Given the description of an element on the screen output the (x, y) to click on. 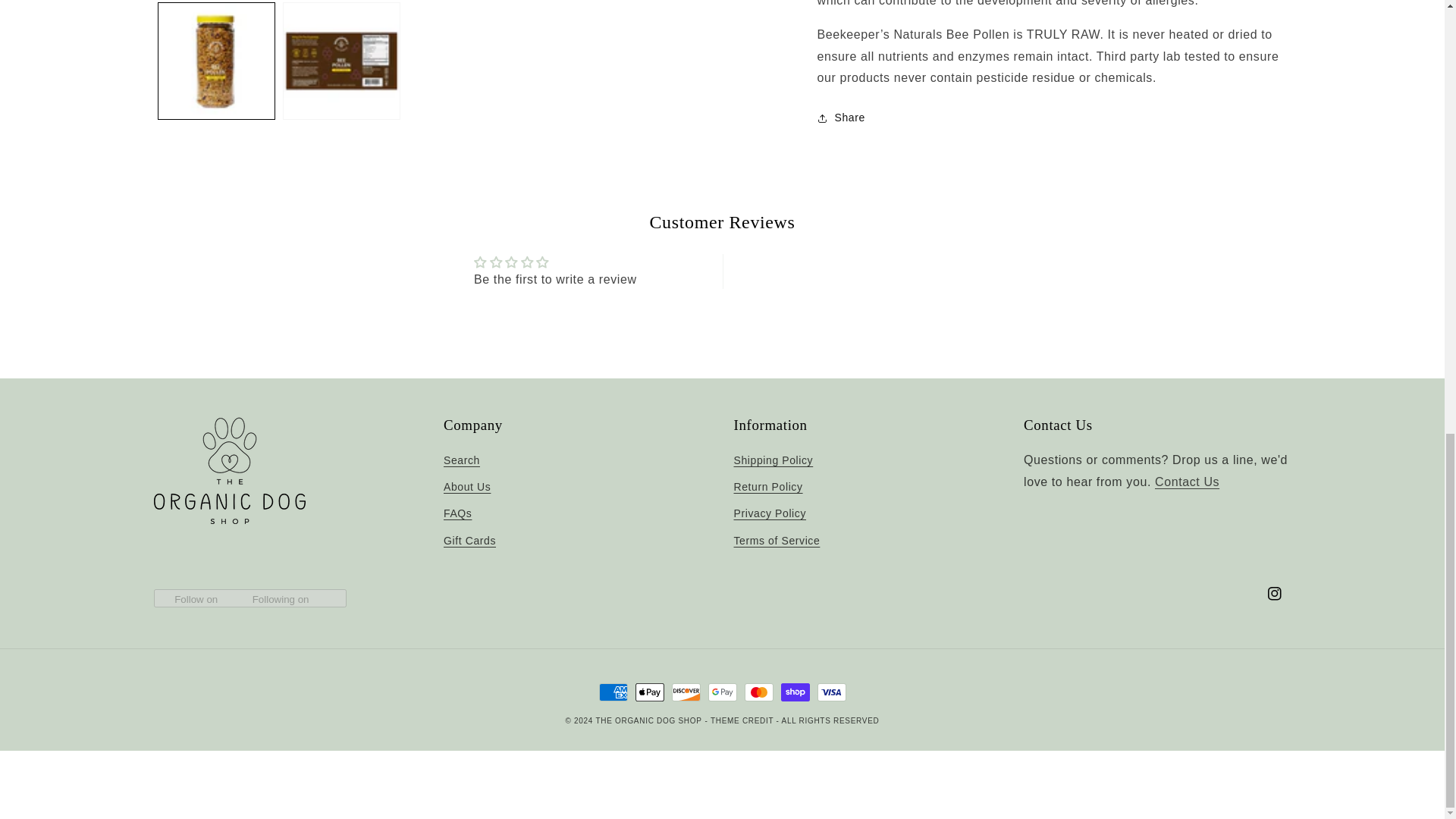
Contact (1187, 481)
